Given the description of an element on the screen output the (x, y) to click on. 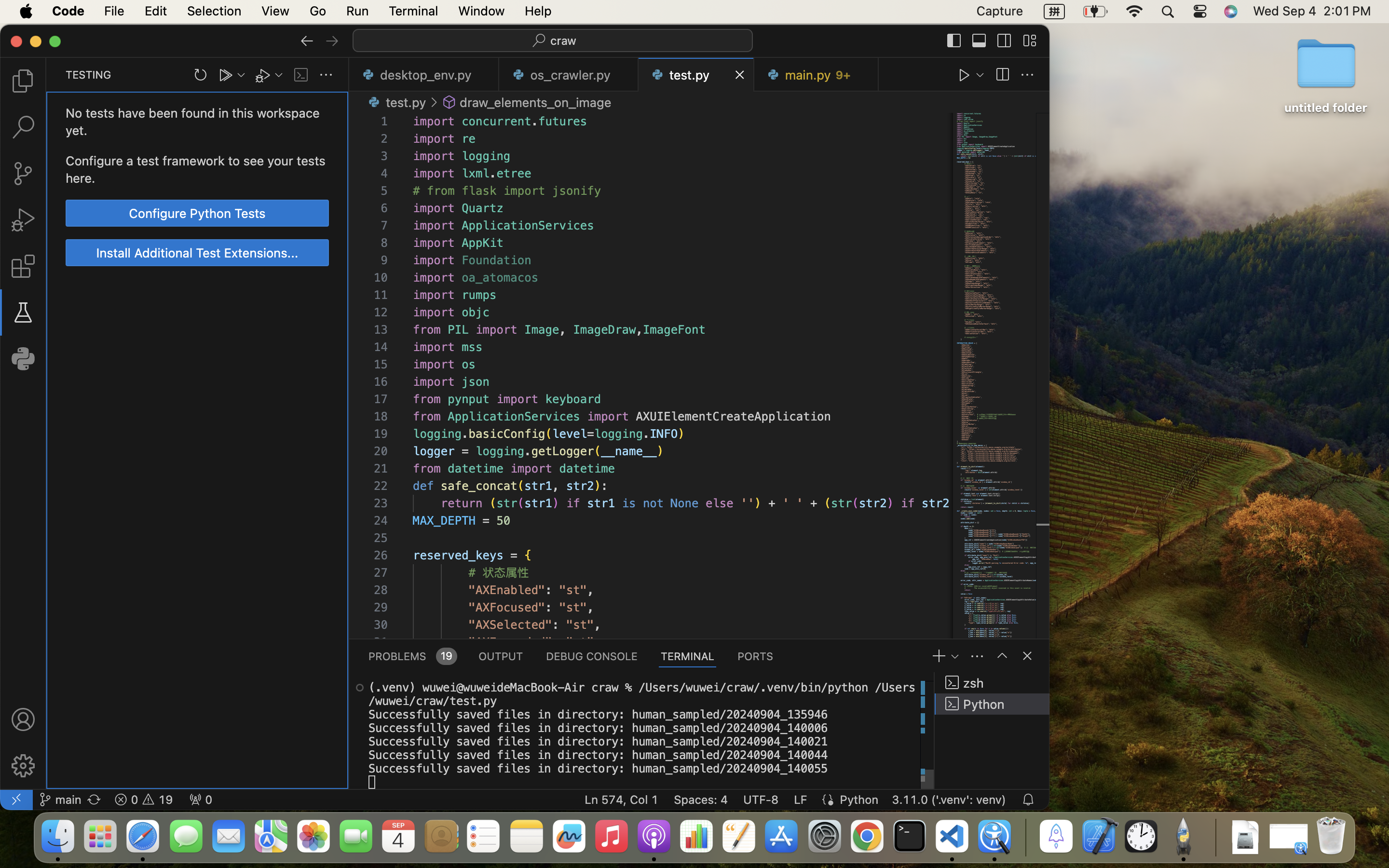
0 main.py   9+ Element type: AXRadioButton (816, 74)
0 Element type: AXRadioButton (23, 358)
0  Element type: AXRadioButton (23, 173)
 Element type: AXStaticText (433, 101)
0  Element type: AXRadioButton (23, 127)
